Given the description of an element on the screen output the (x, y) to click on. 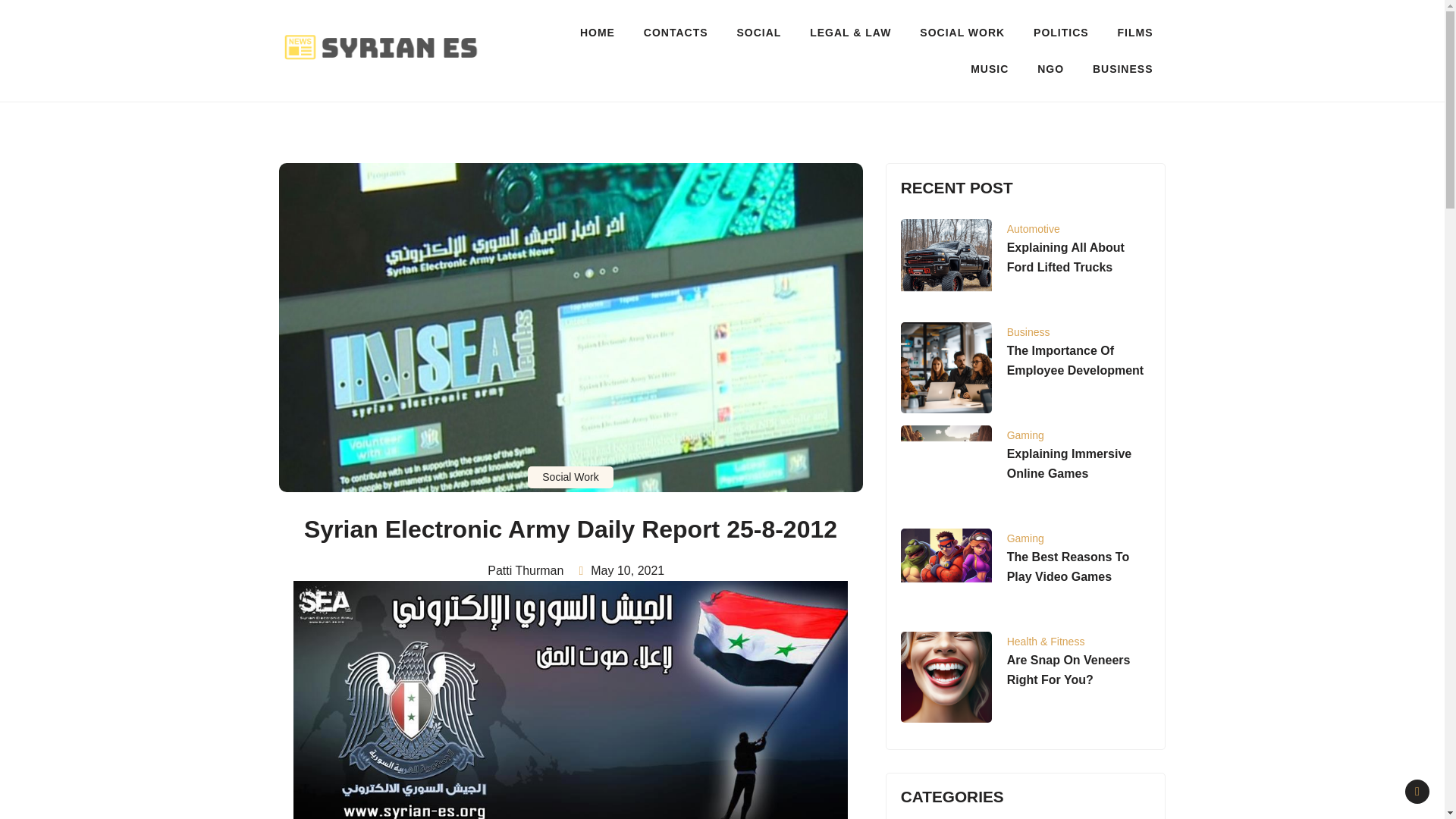
MUSIC (990, 68)
BUSINESS (1123, 68)
POLITICS (1061, 32)
Patti Thurman (520, 570)
SOCIAL WORK (962, 32)
NGO (1051, 68)
Social Work (569, 477)
May 10, 2021 (627, 570)
HOME (597, 32)
Explaining All About Ford Lifted Trucks (1065, 256)
